Given the description of an element on the screen output the (x, y) to click on. 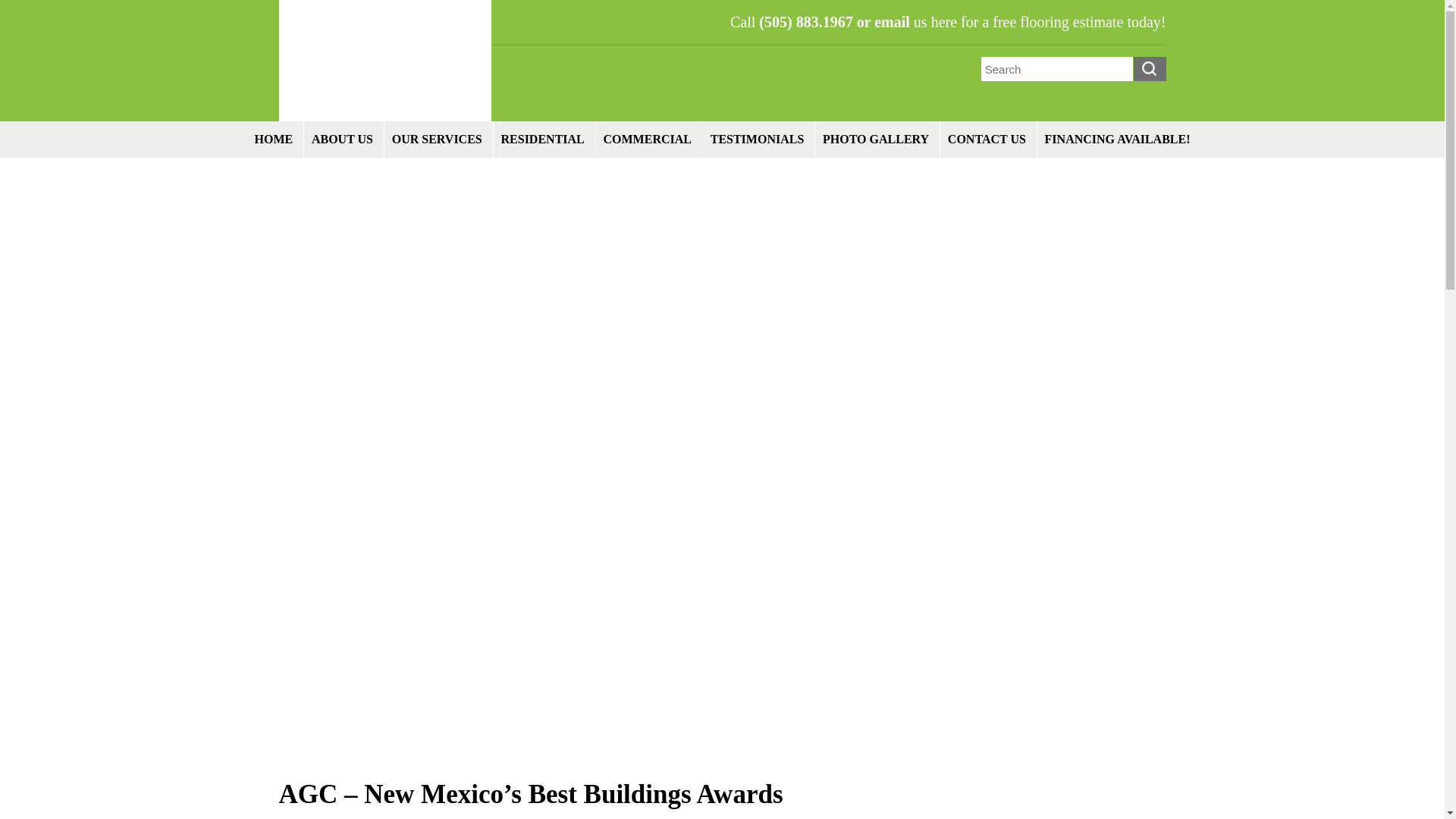
submit (1149, 68)
